Given the description of an element on the screen output the (x, y) to click on. 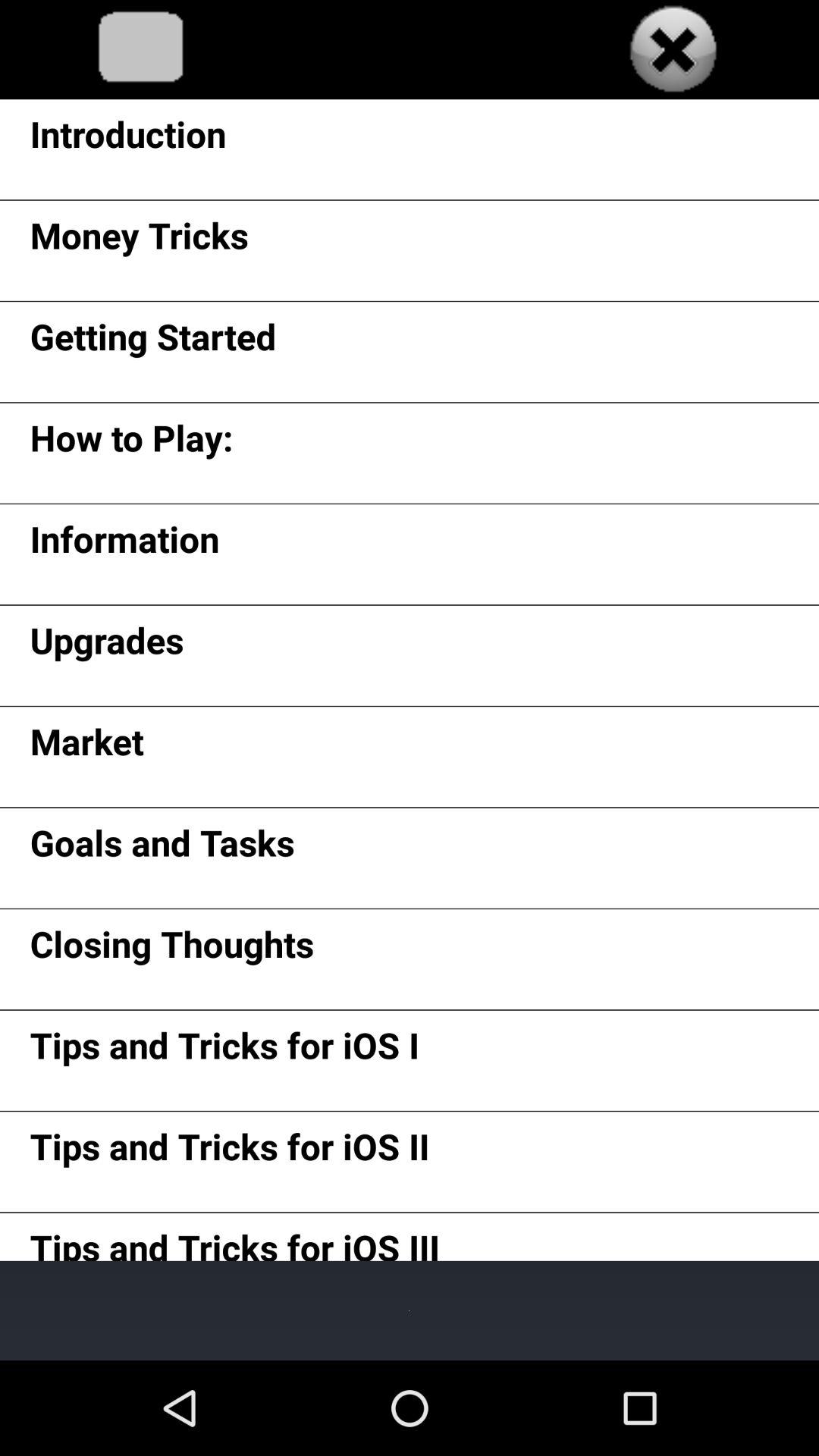
choose item below tips and tricks item (408, 1310)
